Given the description of an element on the screen output the (x, y) to click on. 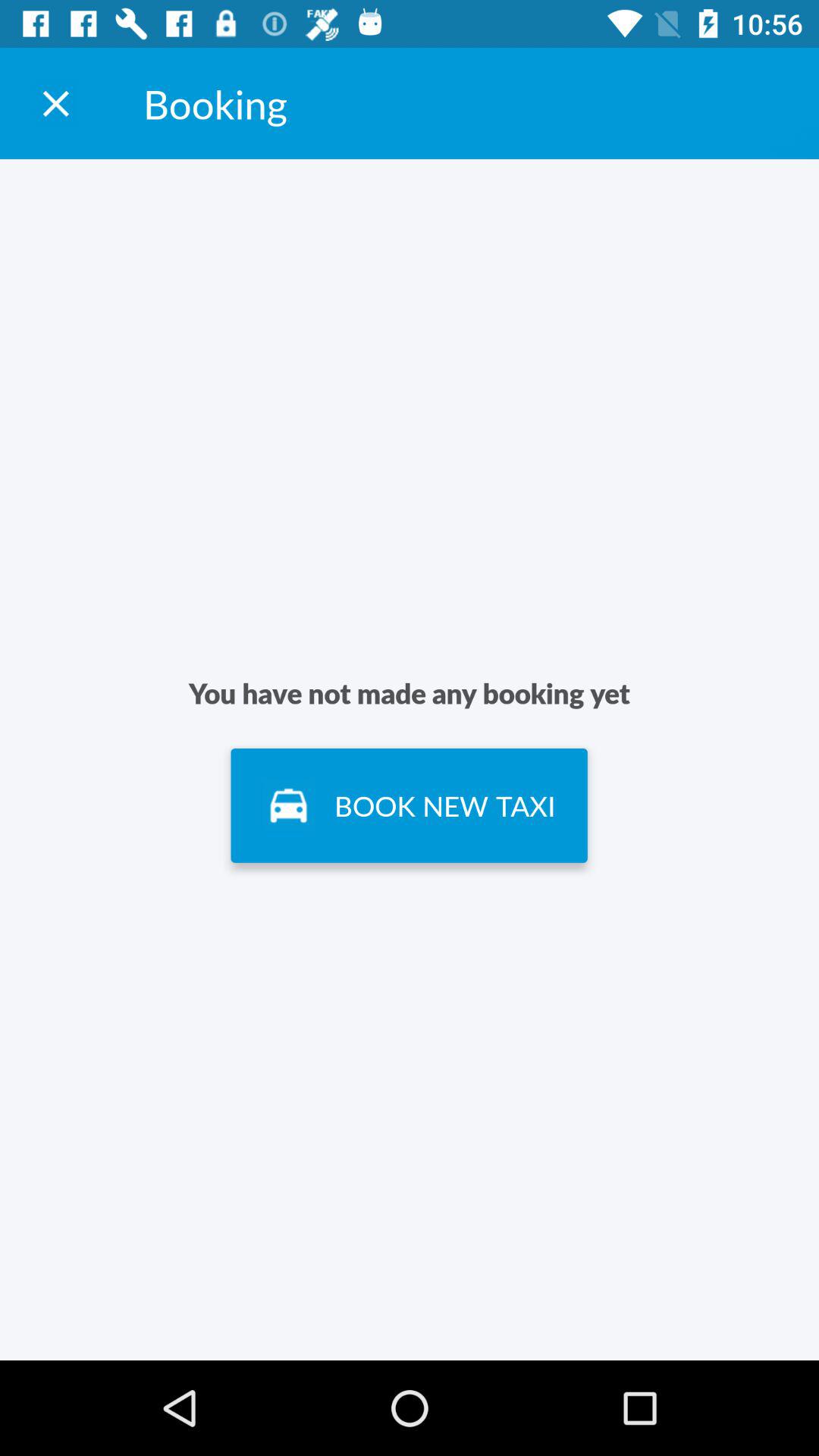
turn on the book new taxi (408, 805)
